Given the description of an element on the screen output the (x, y) to click on. 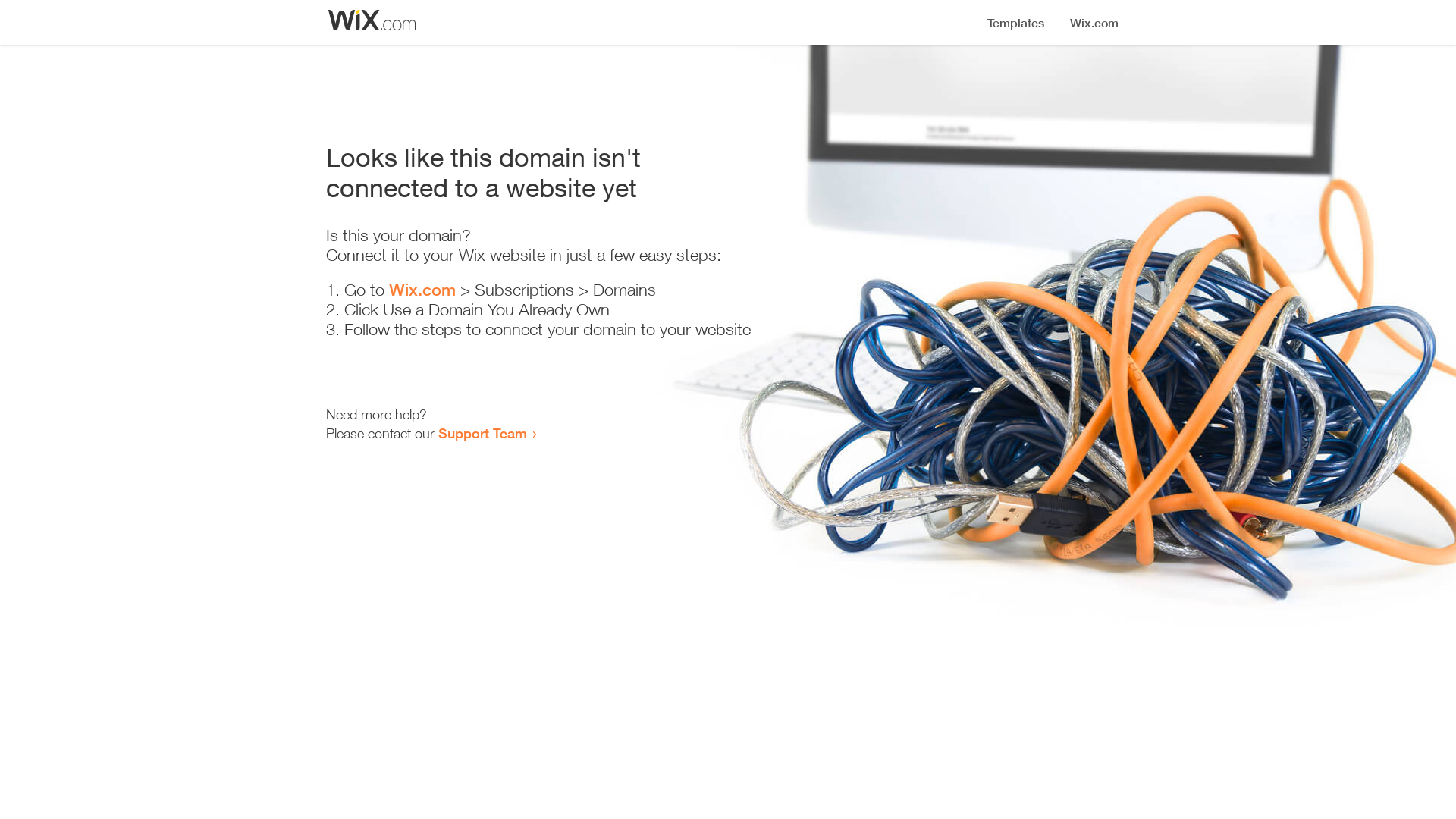
Wix.com Element type: text (422, 289)
Support Team Element type: text (482, 432)
